Given the description of an element on the screen output the (x, y) to click on. 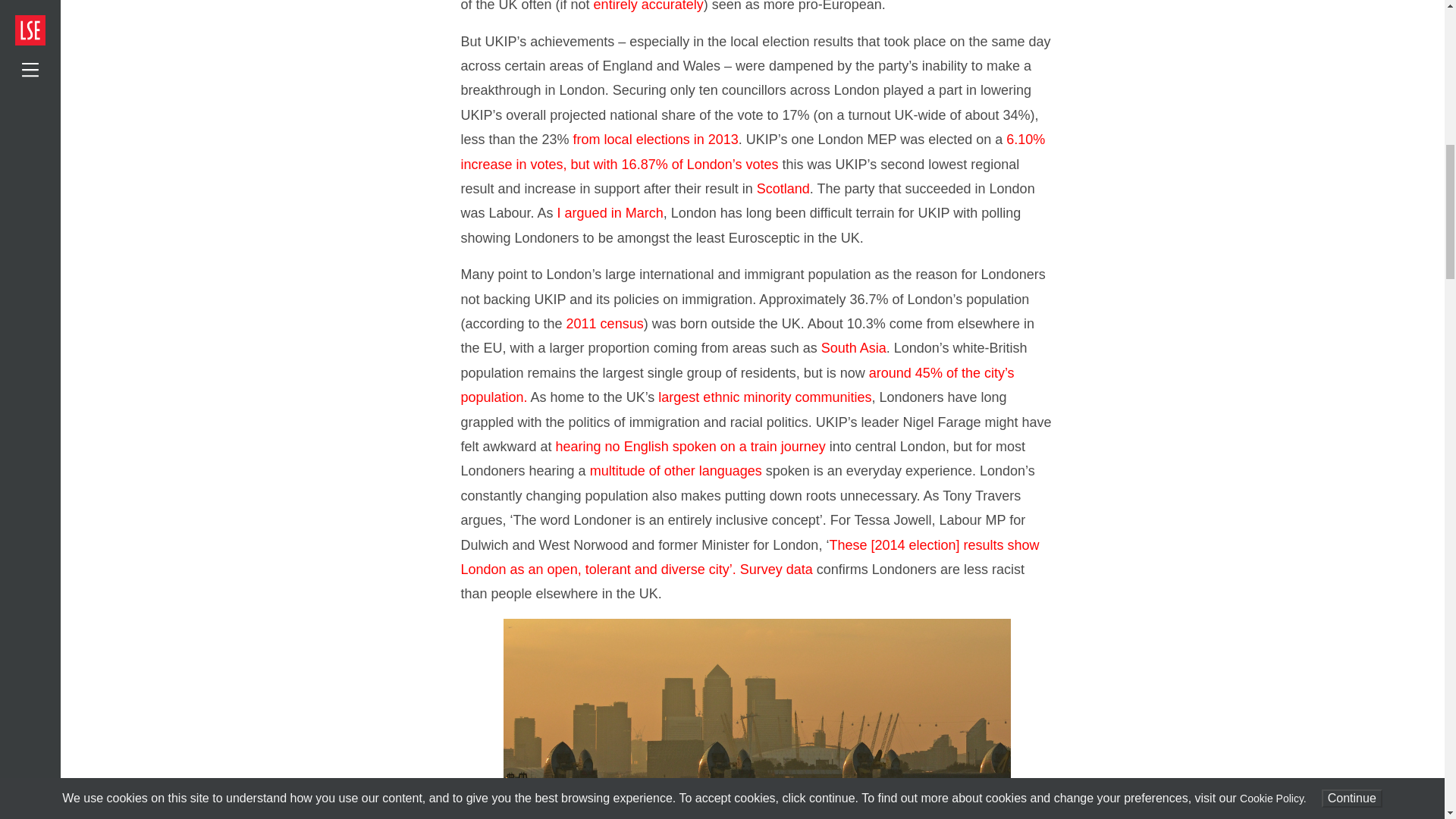
from local elections in 2013 (655, 139)
I argued in March (610, 212)
2011 census (604, 323)
Scotland (783, 188)
South Asia (853, 347)
entirely accurately (648, 6)
hearing no English spoken on a train journey (690, 446)
multitude of other languages (675, 470)
largest ethnic minority communities (764, 396)
